Given the description of an element on the screen output the (x, y) to click on. 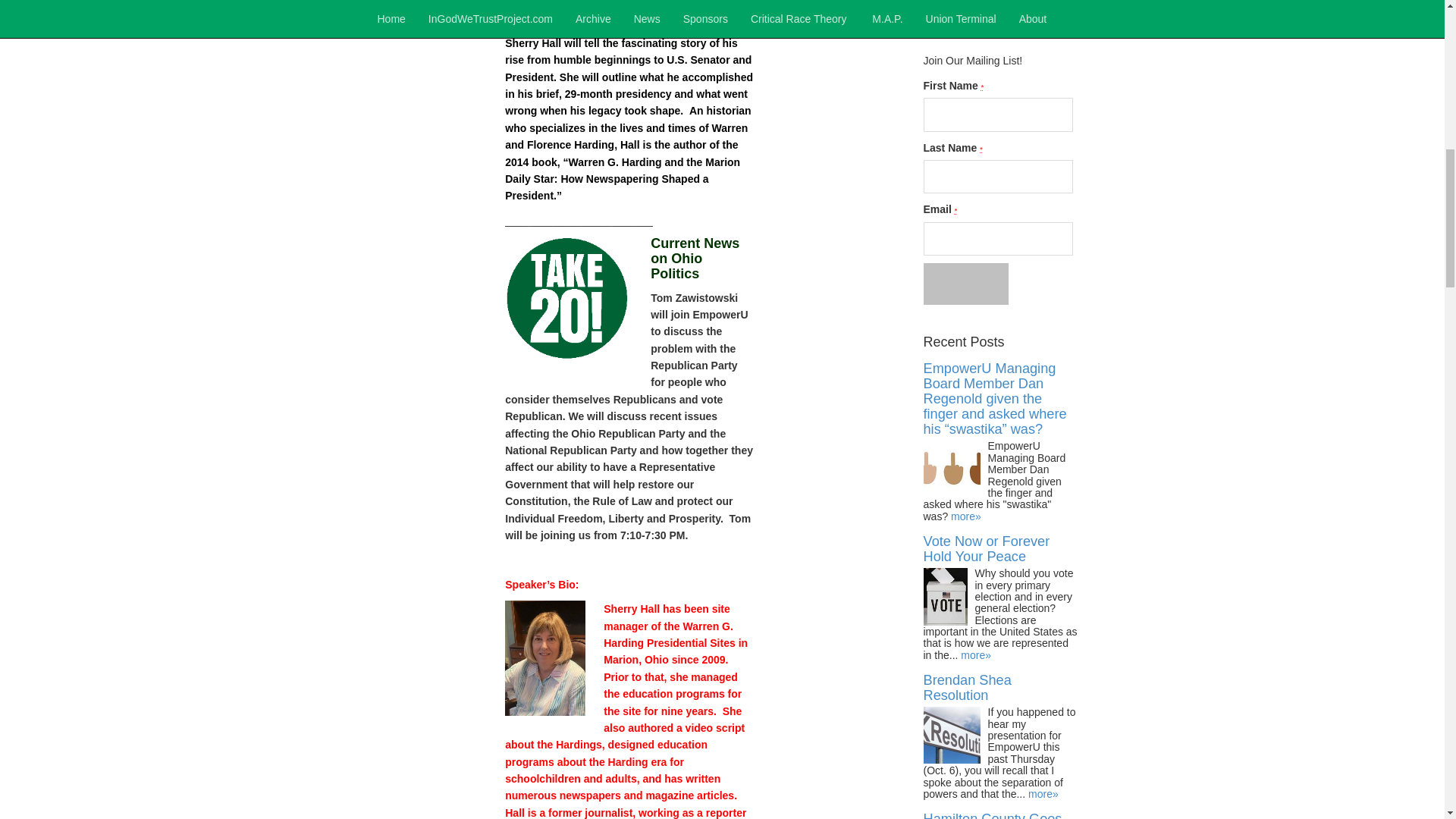
Sign Up (966, 282)
Search for: (1000, 20)
Brendan Shea Resolution (967, 687)
Hamilton County Goes Woke (992, 815)
Vote Now or Forever Hold Your Peace (986, 548)
Sign Up (966, 282)
